Given the description of an element on the screen output the (x, y) to click on. 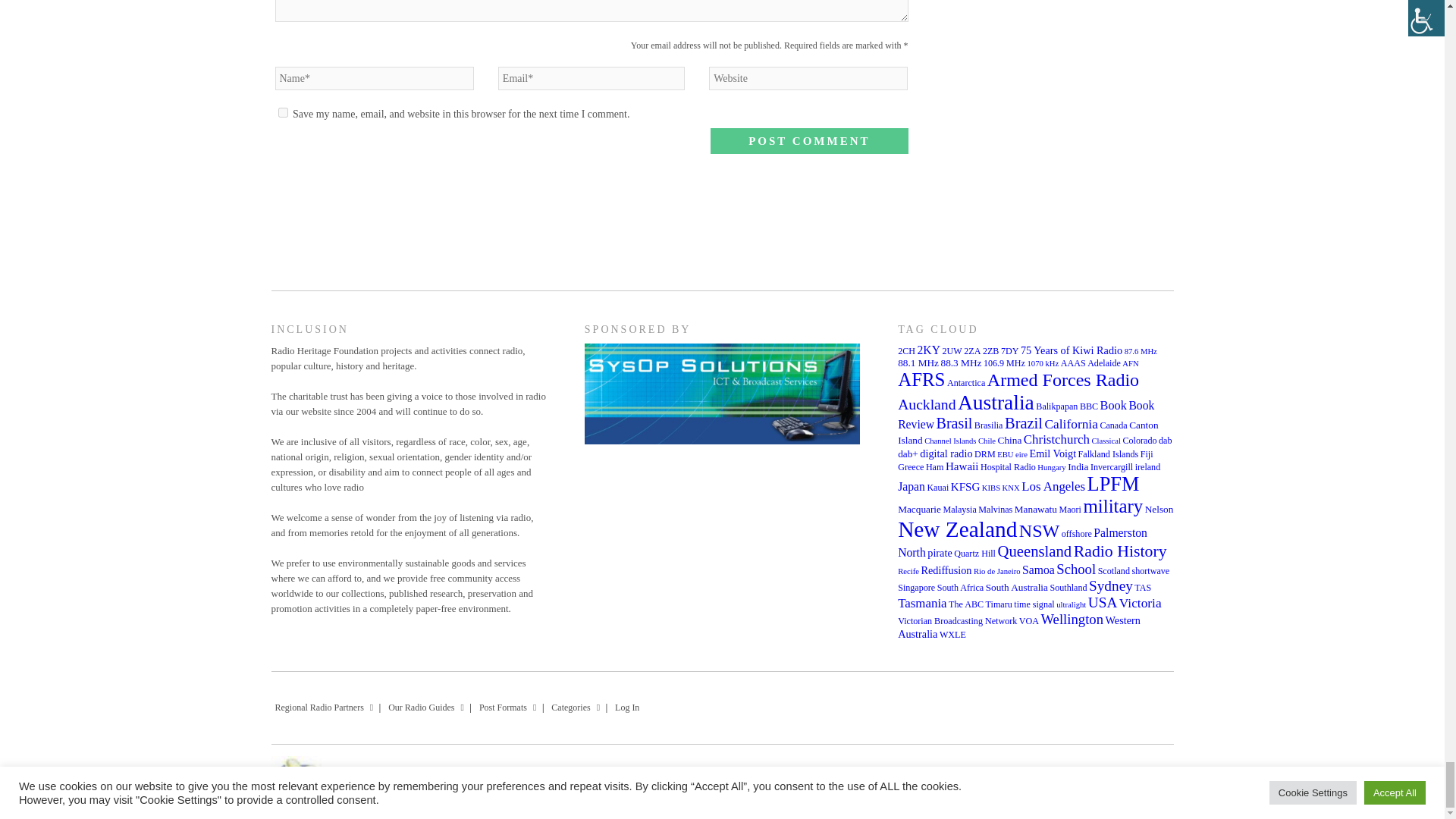
Post Comment (808, 140)
yes (282, 112)
